Given the description of an element on the screen output the (x, y) to click on. 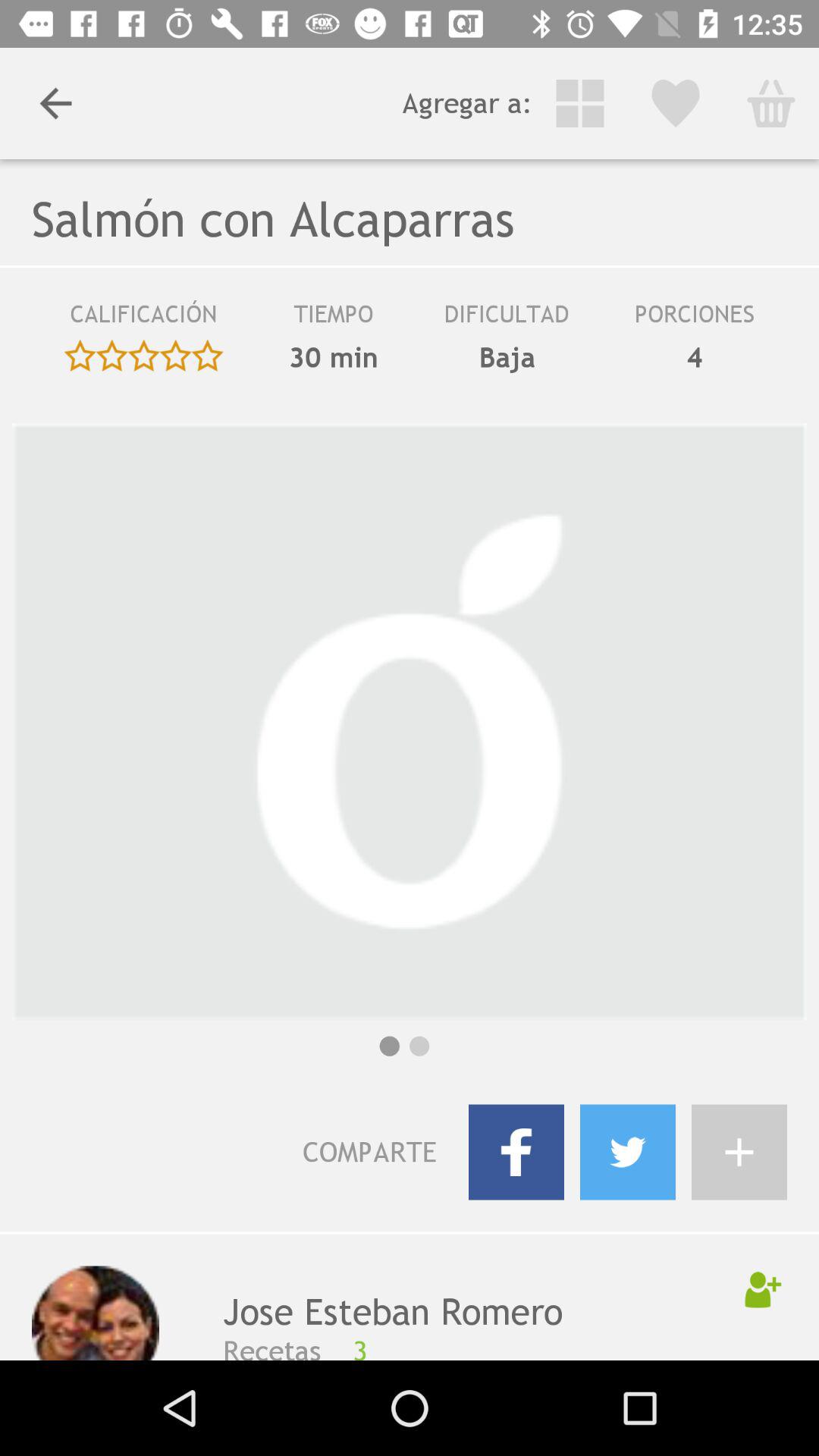
launch 30 min item (333, 357)
